Given the description of an element on the screen output the (x, y) to click on. 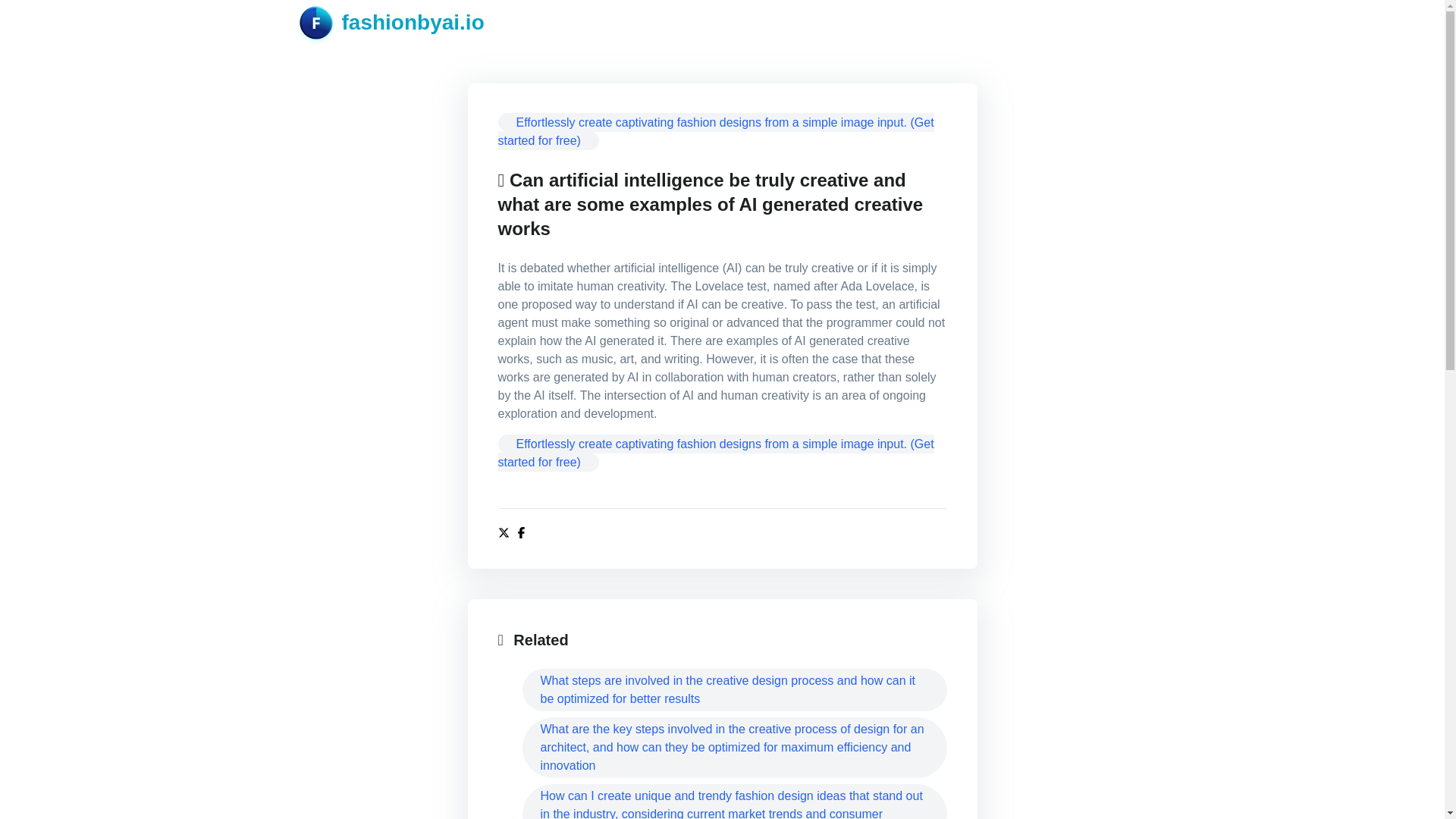
fashionbyai.io (390, 22)
